Given the description of an element on the screen output the (x, y) to click on. 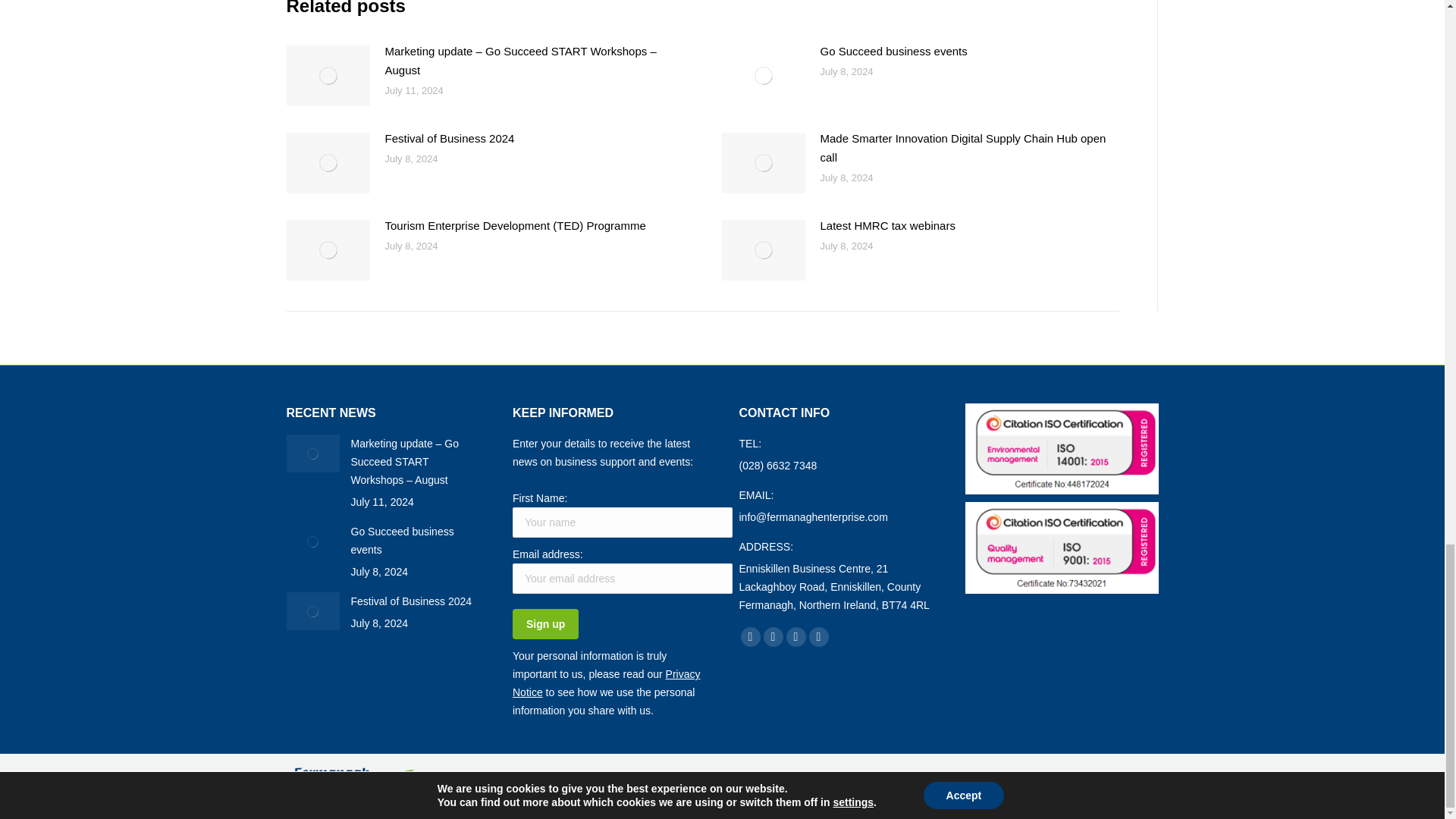
Sign up (545, 624)
